Given the description of an element on the screen output the (x, y) to click on. 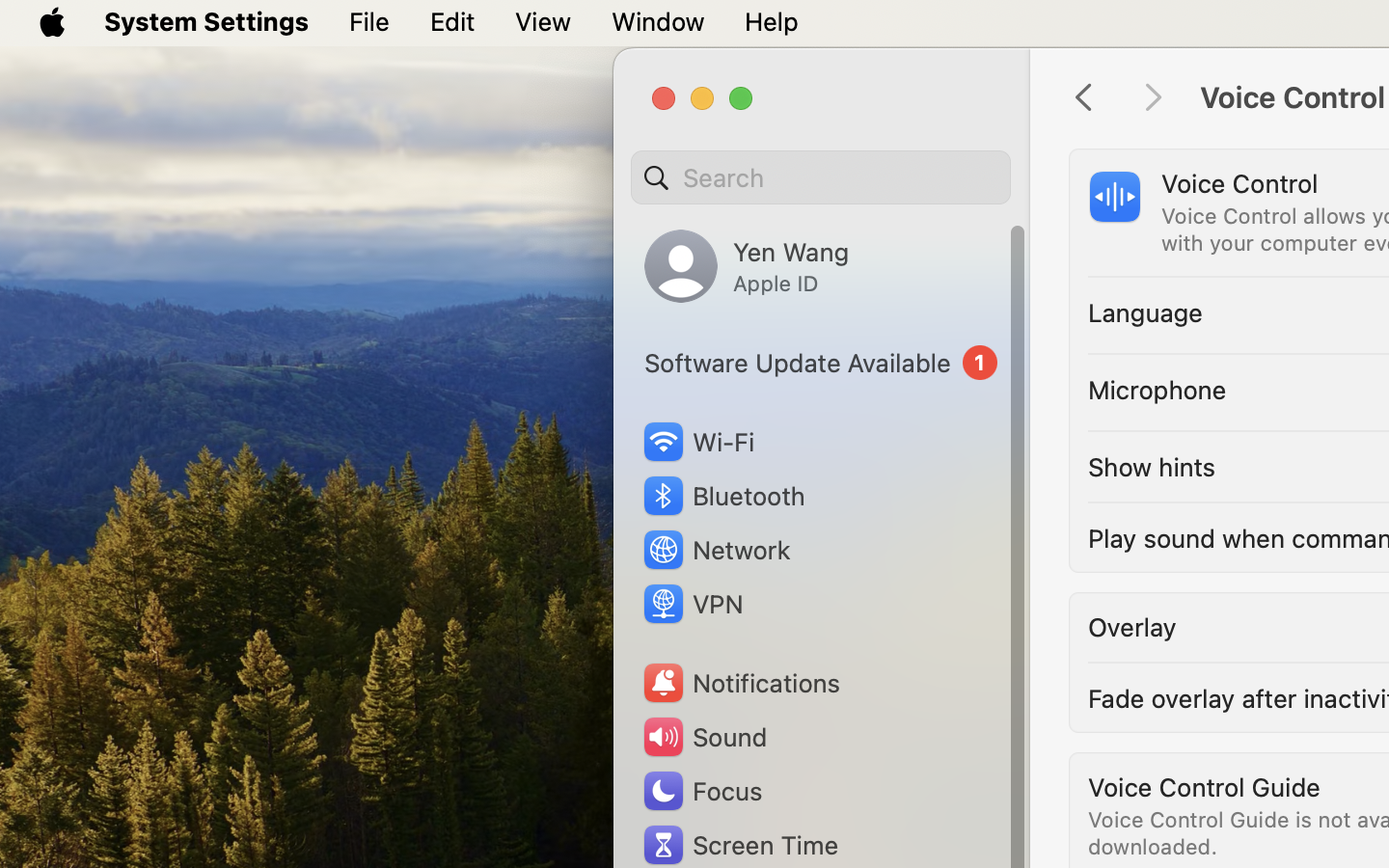
1 Element type: AXStaticText (820, 362)
VPN Element type: AXStaticText (691, 603)
Voice Control Element type: AXStaticText (1239, 182)
Screen Time Element type: AXStaticText (739, 844)
Focus Element type: AXStaticText (701, 790)
